Given the description of an element on the screen output the (x, y) to click on. 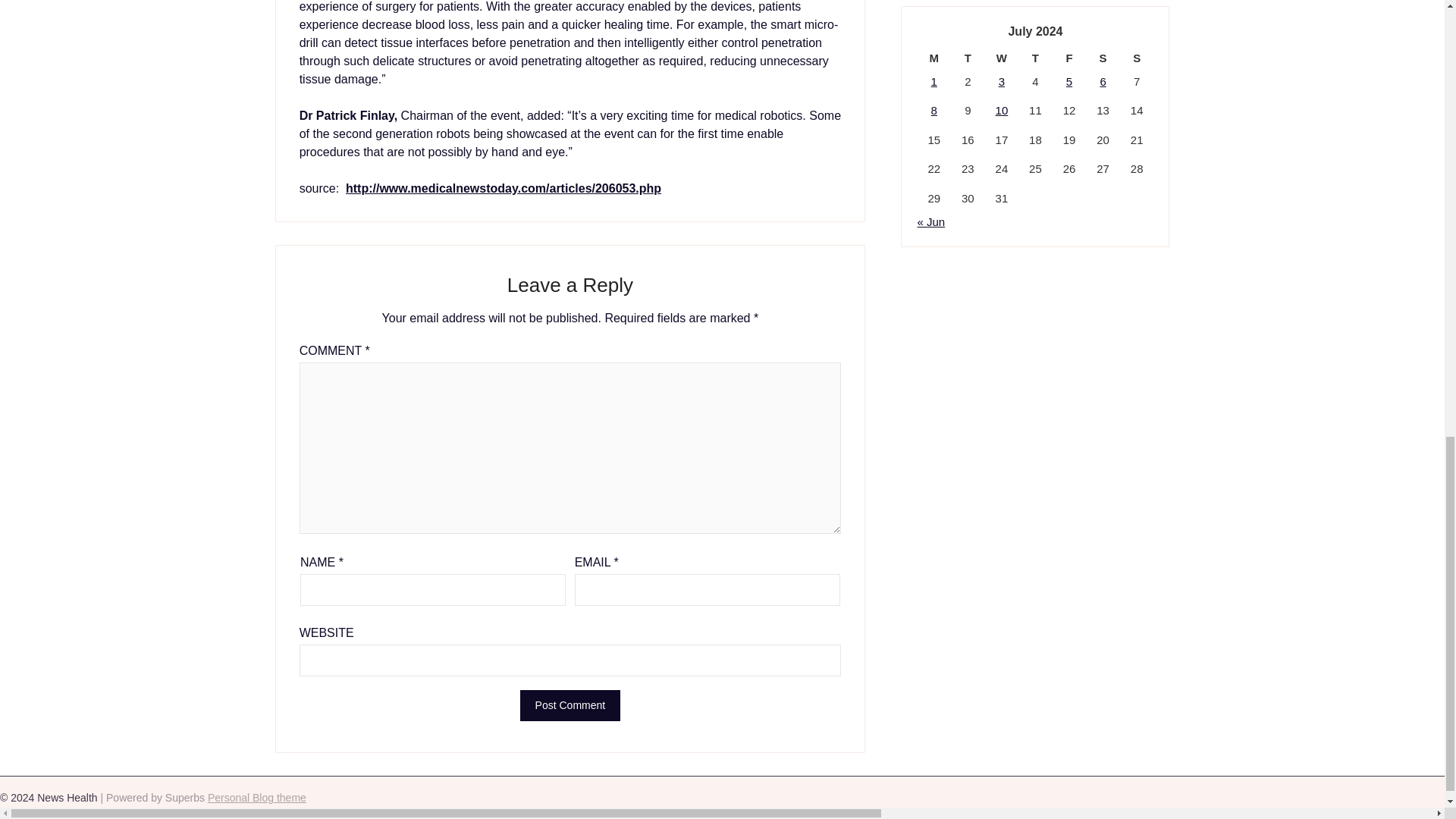
Thursday (1034, 58)
6 (1102, 81)
Post Comment (570, 705)
Sunday (1136, 58)
Post Comment (570, 705)
Monday (933, 58)
Saturday (1102, 58)
Wednesday (1002, 58)
3 (1001, 81)
5 (1068, 81)
10 (1002, 110)
Friday (1069, 58)
Tuesday (967, 58)
8 (934, 110)
Personal Blog theme (256, 797)
